Given the description of an element on the screen output the (x, y) to click on. 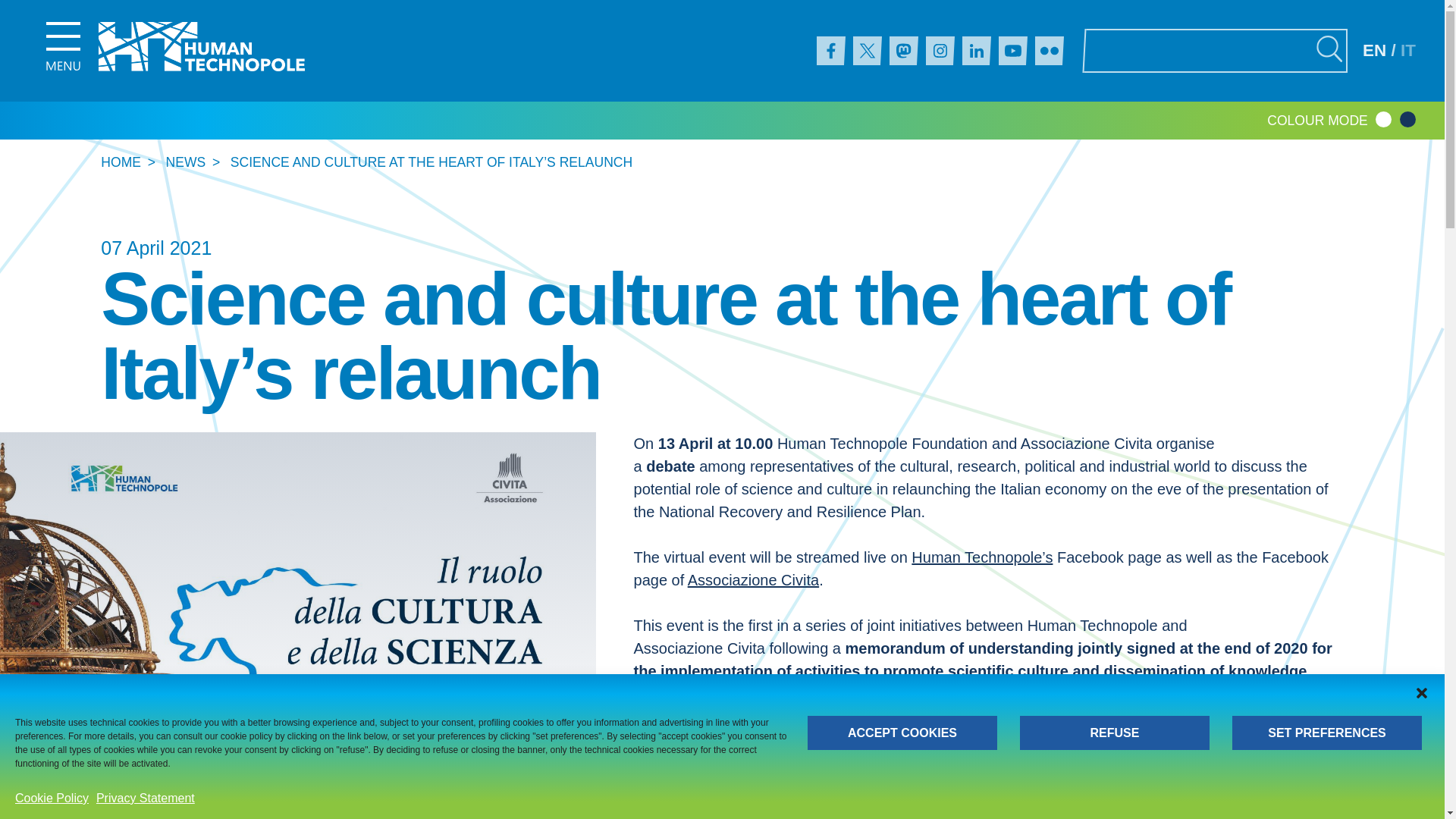
ACCEPT COOKIES (902, 732)
SET PREFERENCES (1326, 732)
EN (1374, 49)
REFUSE (1114, 732)
Privacy Statement (145, 798)
Cookie Policy (51, 798)
